Given the description of an element on the screen output the (x, y) to click on. 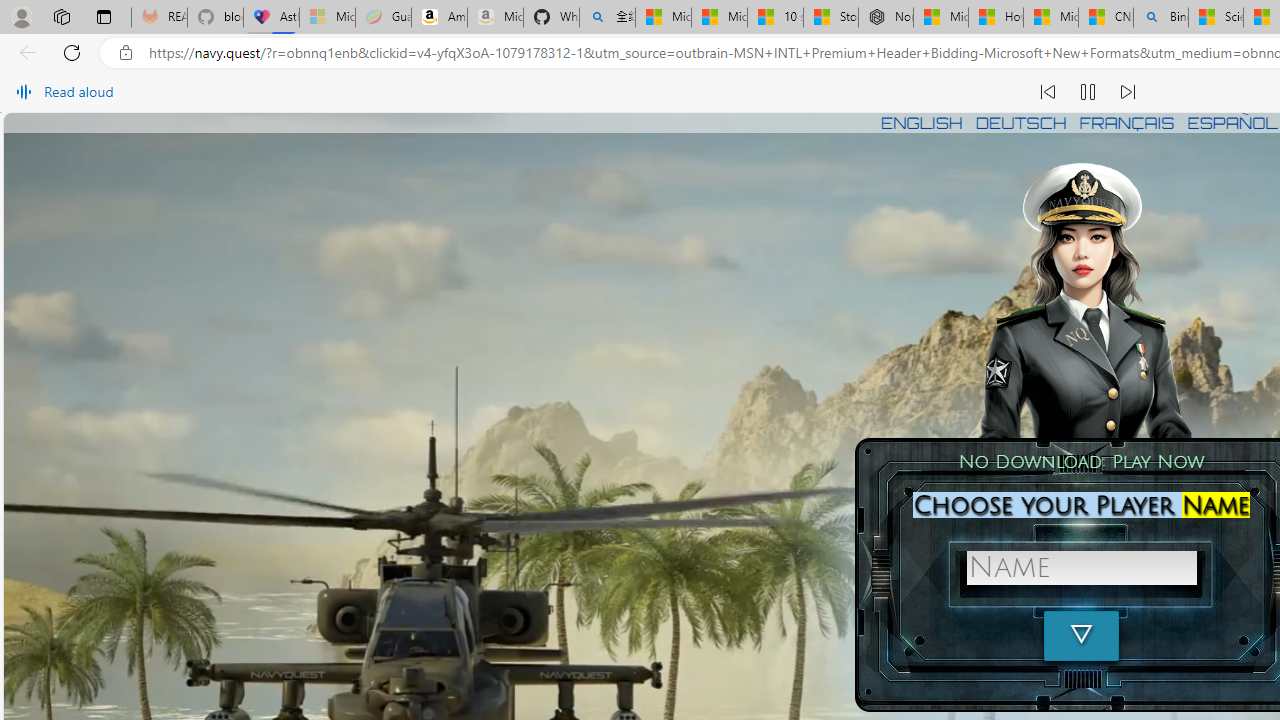
Nordace - Nordace Siena Is Not An Ordinary Backpack (885, 17)
Back (24, 52)
Pause read aloud (Ctrl+Shift+U) (1087, 92)
Microsoft Start (1050, 17)
Asthma Inhalers: Names and Types (271, 17)
Read previous paragraph (1047, 92)
CNN - MSN (1105, 17)
Tab actions menu (104, 16)
